Given the description of an element on the screen output the (x, y) to click on. 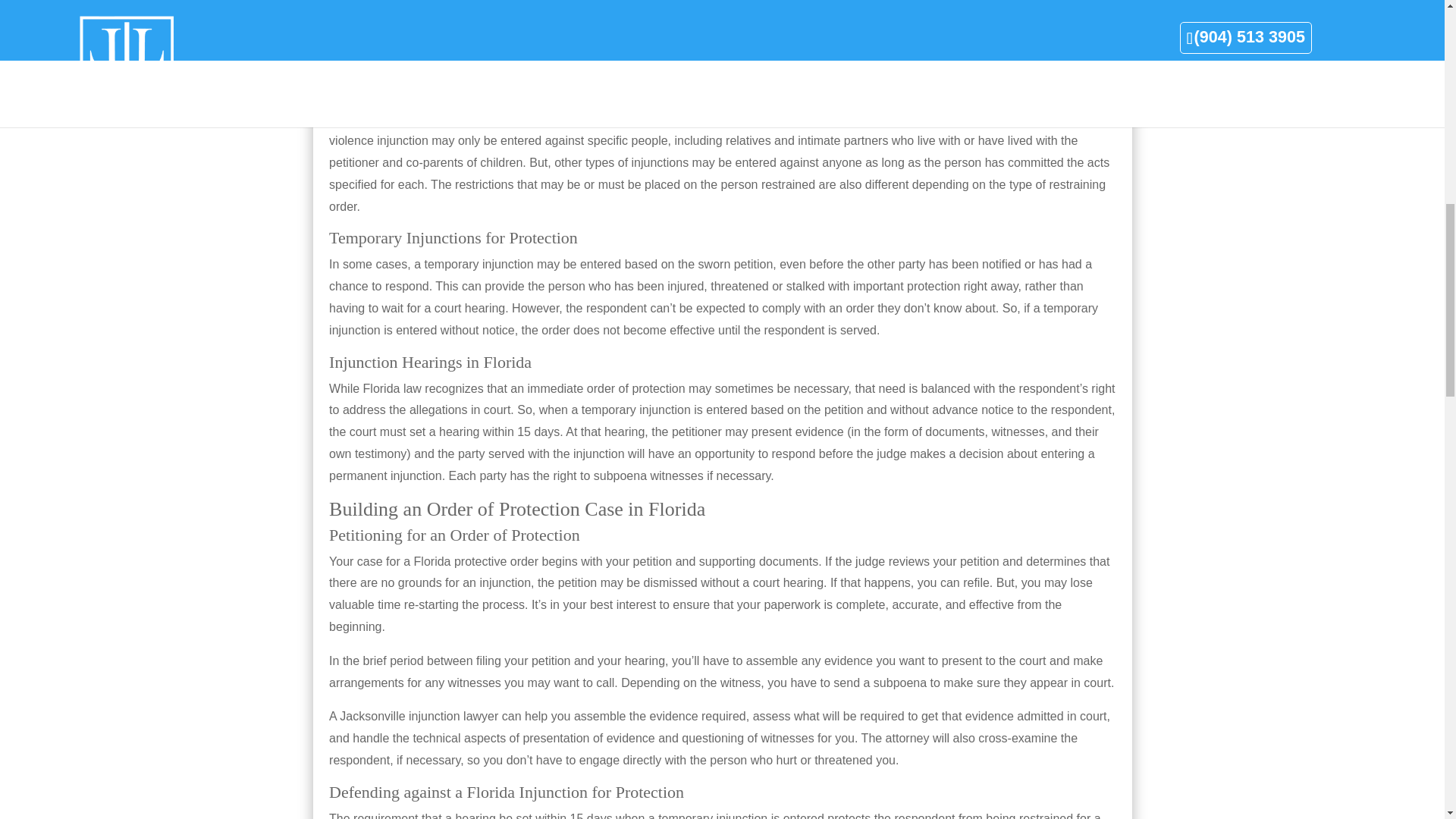
Domestic Violence injunctions (421, 6)
